Given the description of an element on the screen output the (x, y) to click on. 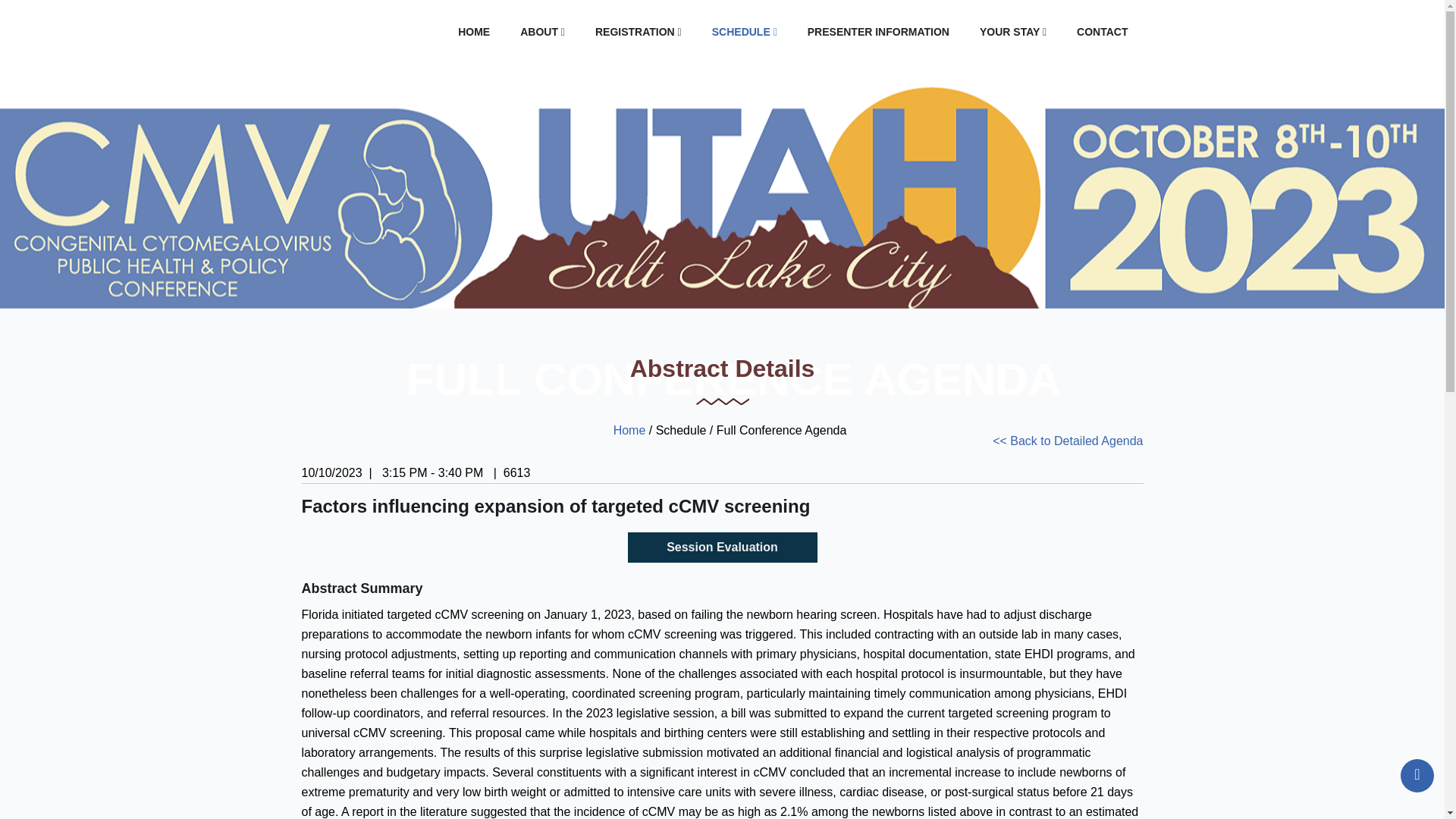
Home (629, 430)
Session Evaluation (721, 547)
REGISTRATION (638, 31)
YOUR STAY (1012, 31)
HOME (473, 31)
PRESENTER INFORMATION (877, 31)
SCHEDULE (744, 31)
ABOUT (542, 31)
CONTACT (1101, 31)
